Given the description of an element on the screen output the (x, y) to click on. 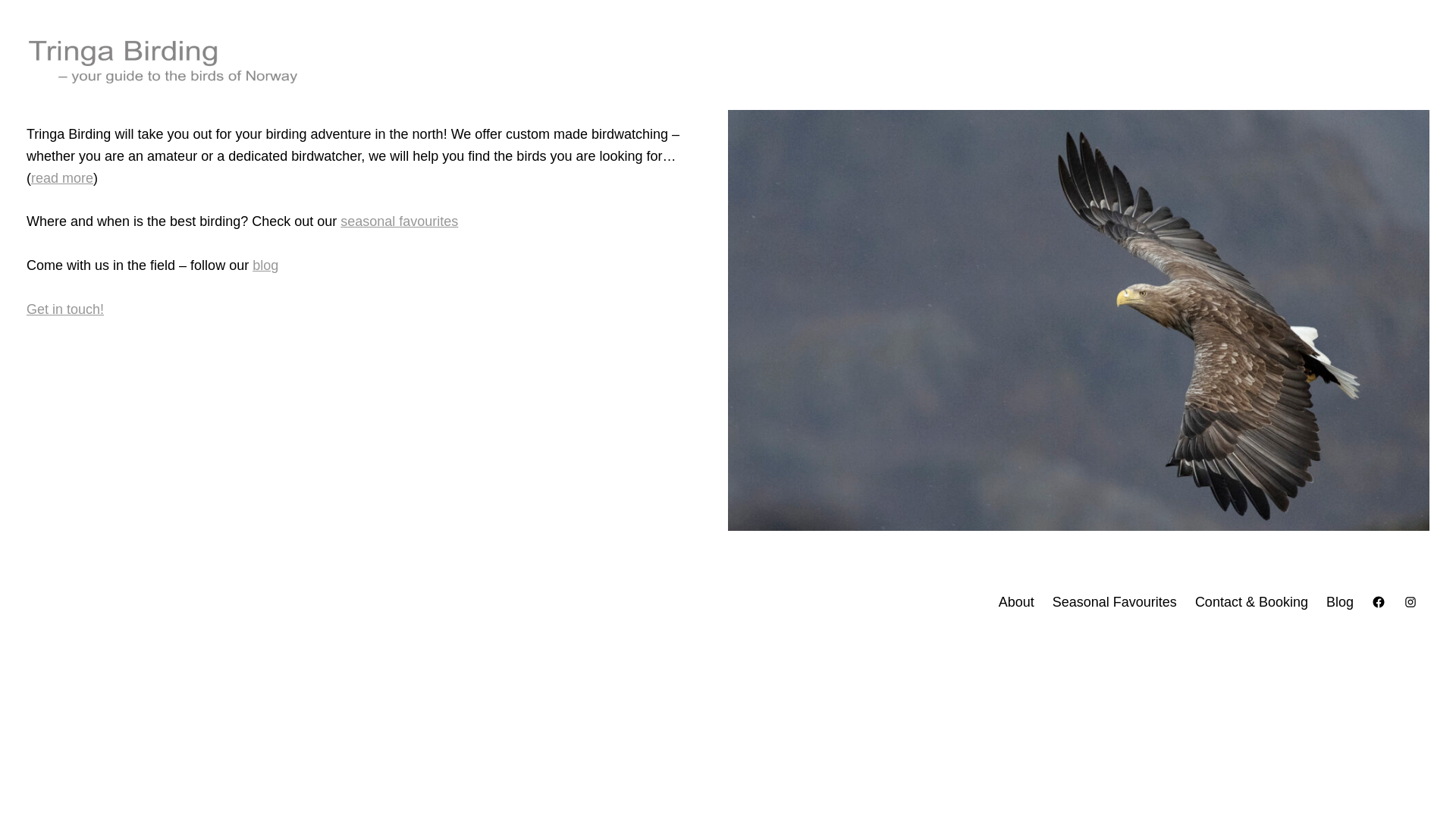
blog (264, 264)
Seasonal Favourites (1114, 602)
Instagram (1409, 602)
seasonal favourites (399, 221)
Blog (1340, 602)
Facebook (1378, 602)
Get in touch! (64, 309)
read more (61, 177)
About (1015, 602)
